Given the description of an element on the screen output the (x, y) to click on. 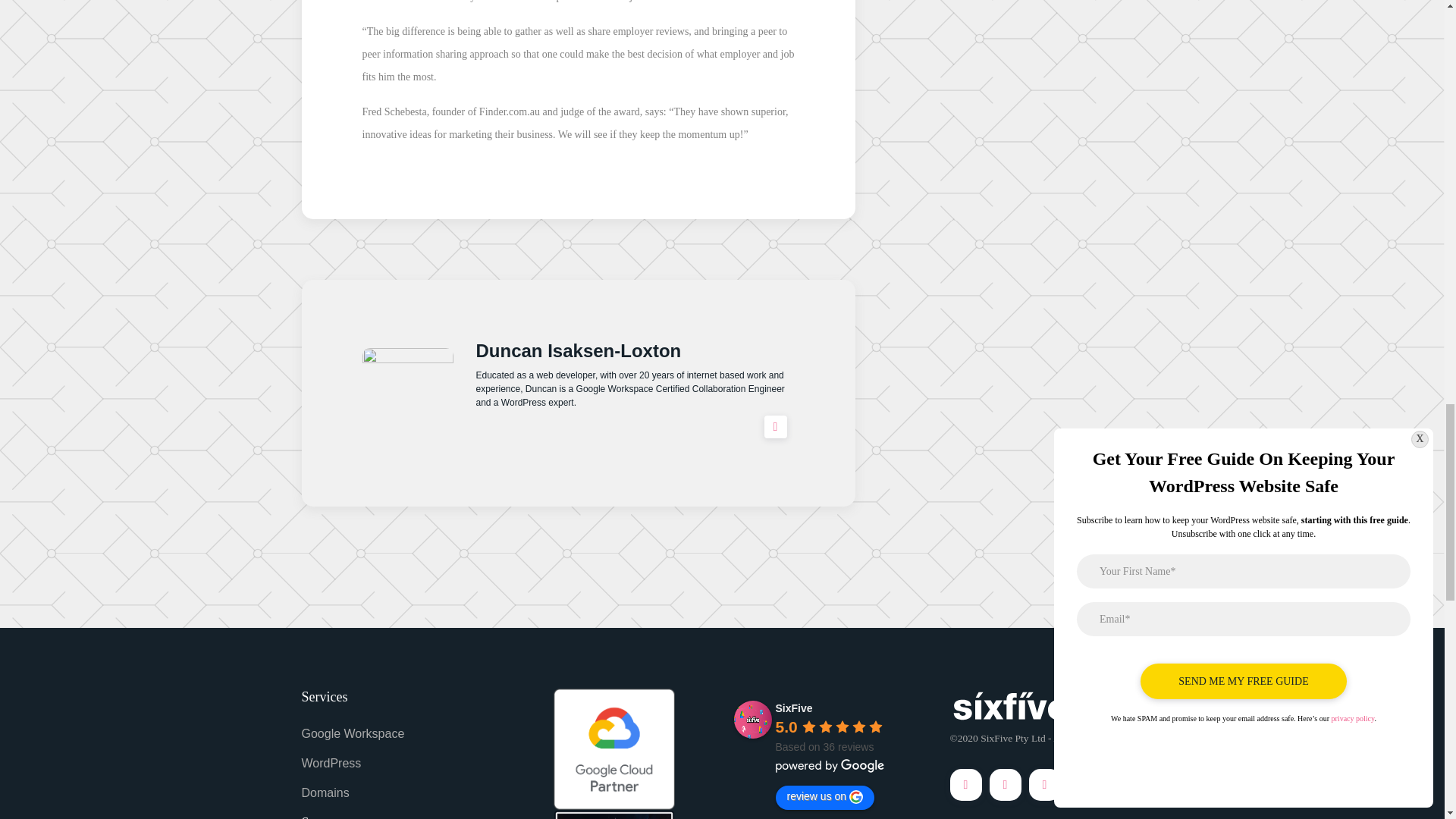
SixFive (752, 719)
Duncan Isaksen-Loxton (578, 350)
powered by Google (828, 766)
